Given the description of an element on the screen output the (x, y) to click on. 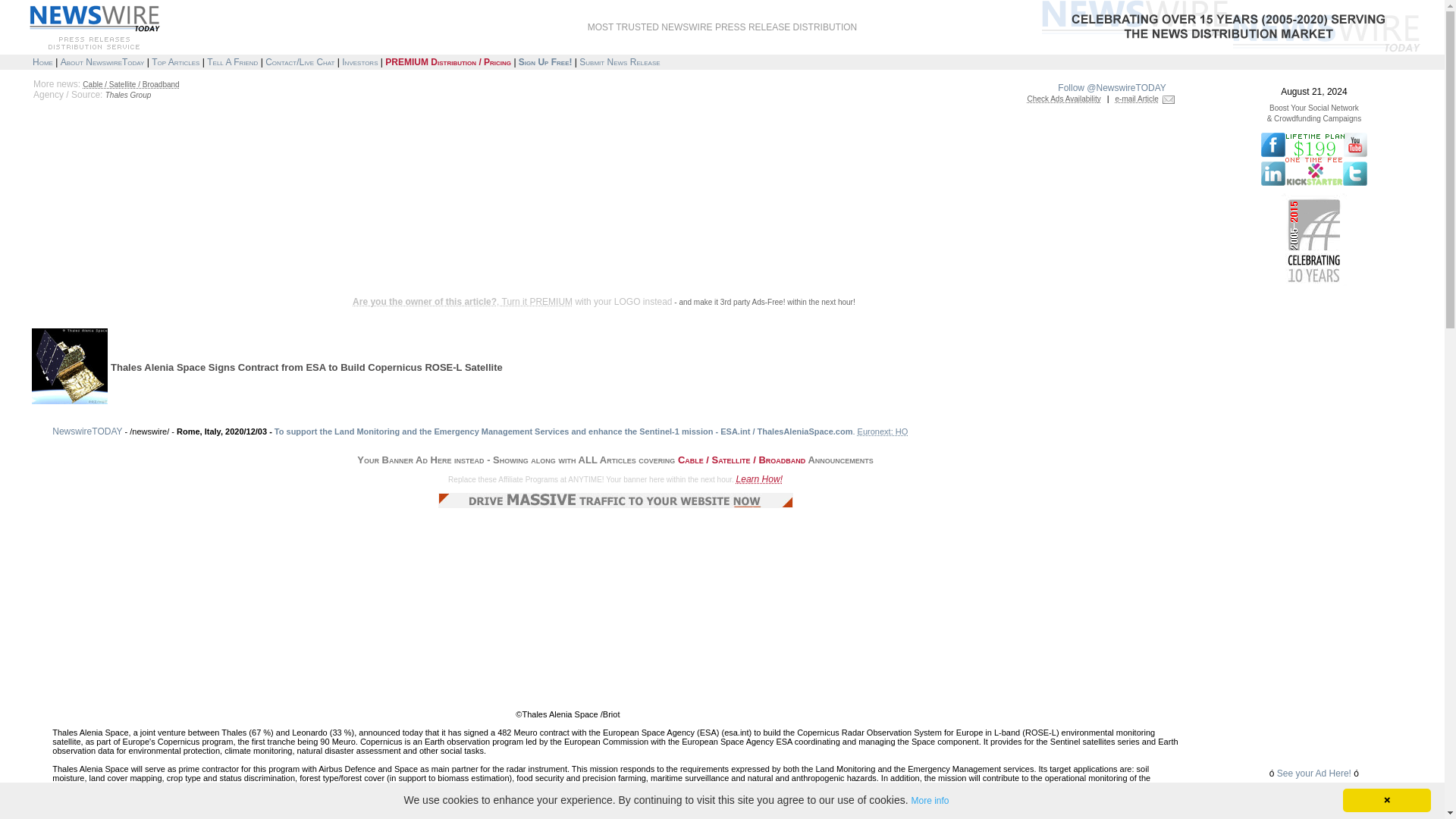
About NewswireToday (102, 61)
Tell A Friend (231, 61)
Home (42, 61)
Tell a friend about NewswireToday (231, 61)
NewswireTODAY (87, 430)
Thales Group (127, 94)
Check Ads Availability (1063, 98)
Top Articles (175, 61)
